Given the description of an element on the screen output the (x, y) to click on. 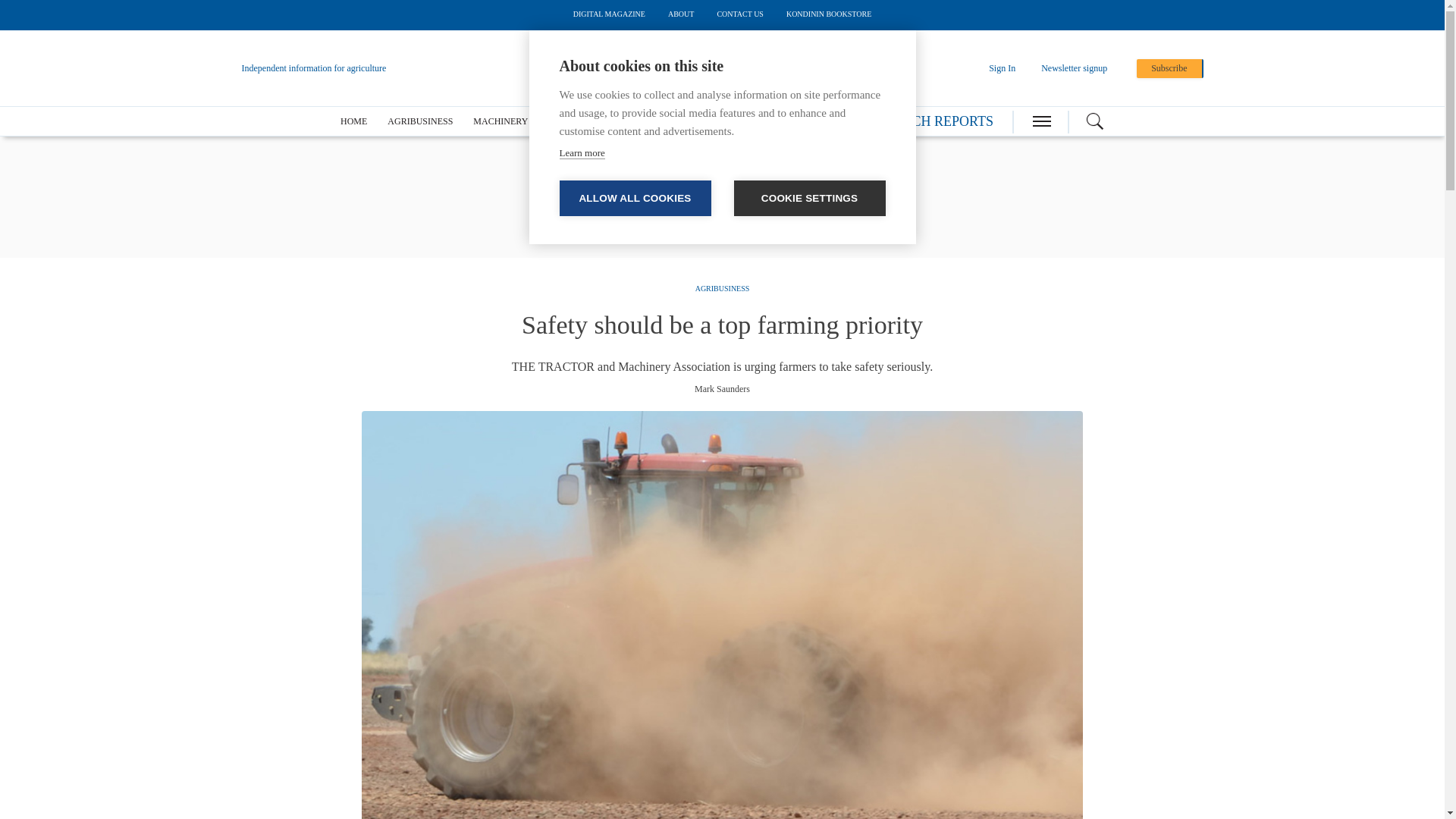
Learn more (582, 152)
COOKIE SETTINGS (809, 198)
ALLOW ALL COOKIES (635, 198)
Cropping (570, 121)
MACHINERY (500, 121)
Technology (715, 121)
Newsletter signup (1073, 68)
Resources (793, 121)
Livestock (638, 121)
TECHNOLOGY (715, 121)
AGRIBUSINESS (419, 121)
RESOURCES (793, 121)
Home (353, 121)
LIVESTOCK (638, 121)
CROPPING (570, 121)
